Given the description of an element on the screen output the (x, y) to click on. 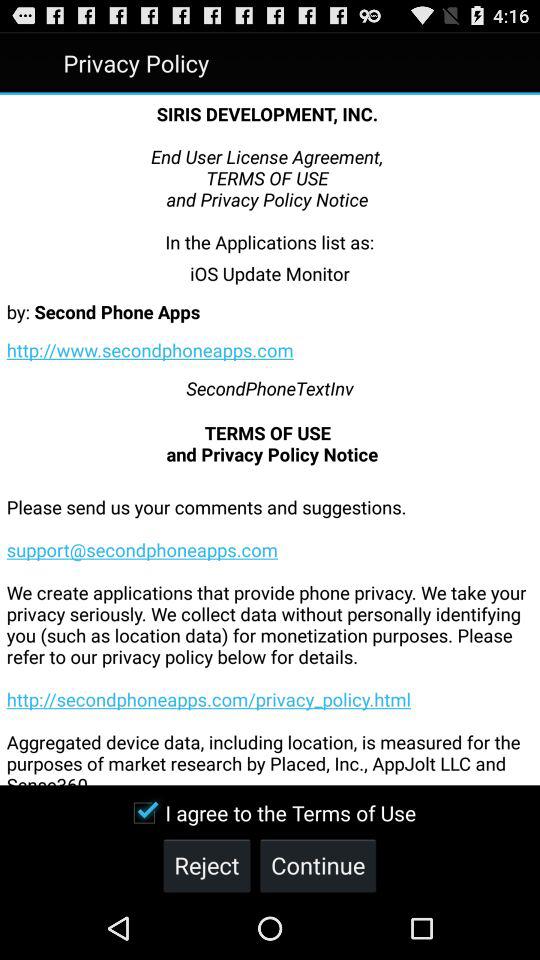
launch i agree to icon (269, 812)
